Given the description of an element on the screen output the (x, y) to click on. 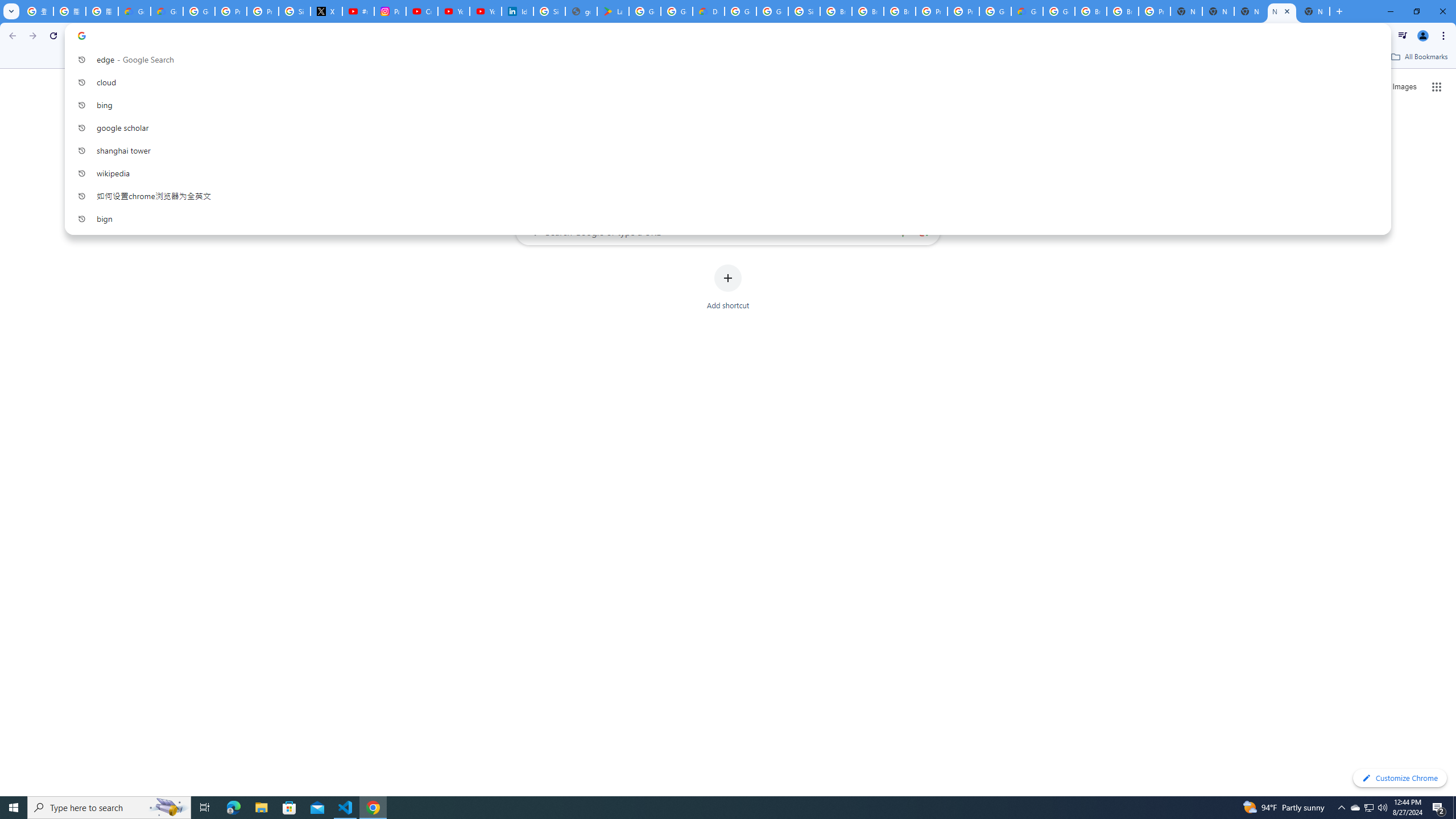
Privacy Help Center - Policies Help (262, 11)
Google Cloud Estimate Summary (1027, 11)
New Tab (1313, 11)
Google Cloud Platform (1059, 11)
Google Cloud Platform (995, 11)
Privacy Help Center - Policies Help (230, 11)
Sign in - Google Accounts (804, 11)
